Given the description of an element on the screen output the (x, y) to click on. 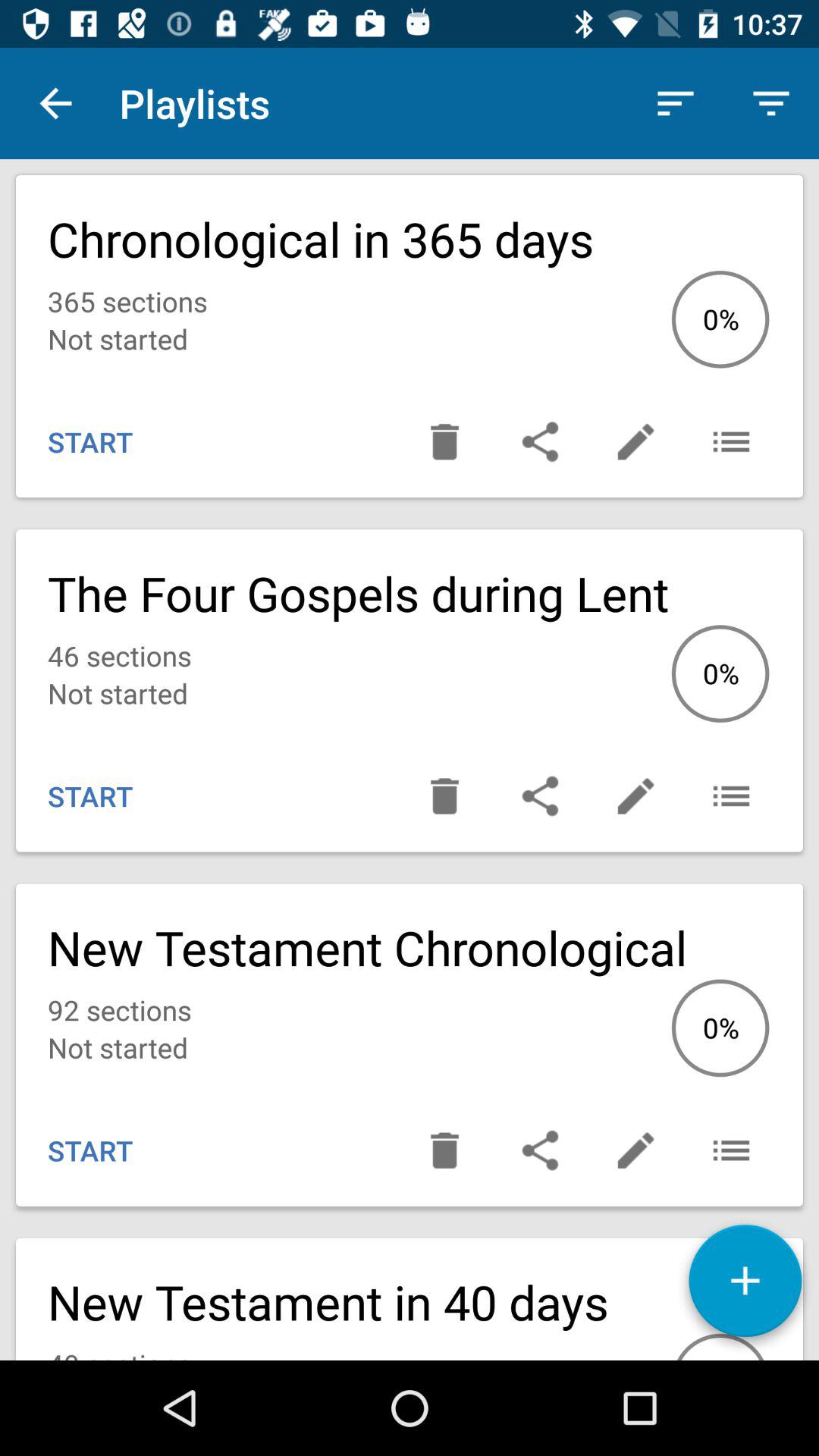
add playlist (745, 1286)
